Given the description of an element on the screen output the (x, y) to click on. 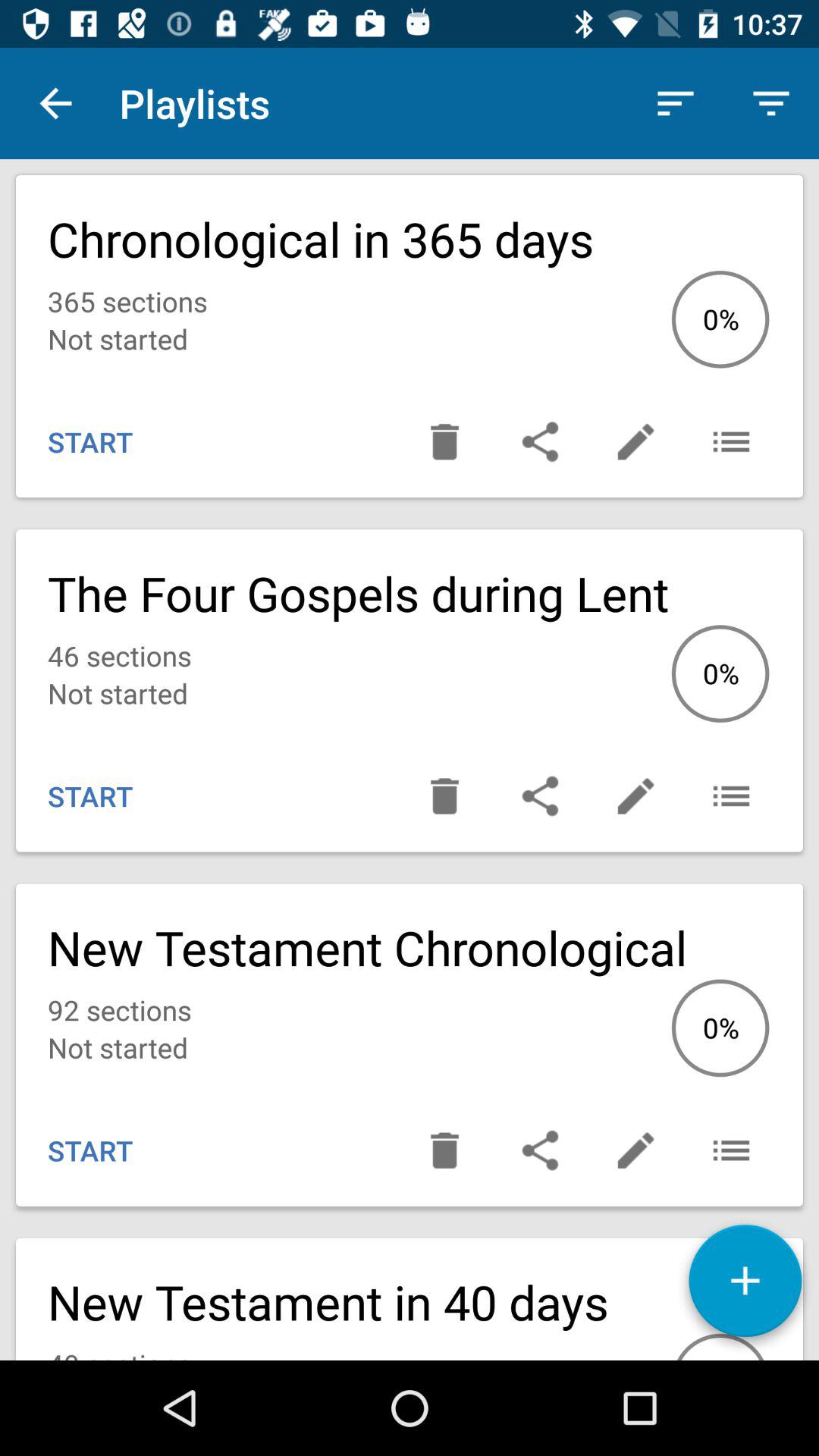
add playlist (745, 1286)
